Given the description of an element on the screen output the (x, y) to click on. 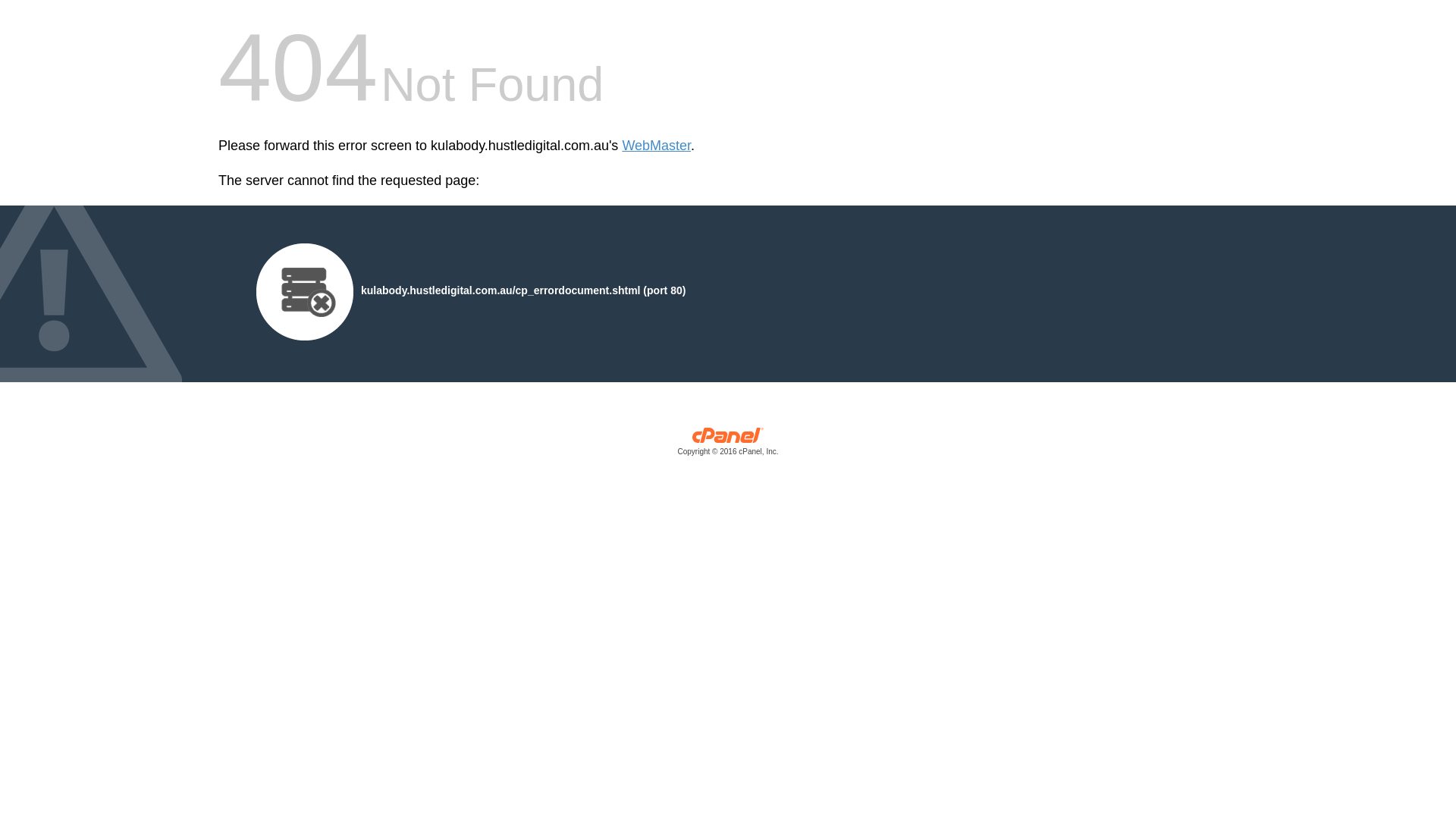
WebMaster Element type: text (655, 145)
